Given the description of an element on the screen output the (x, y) to click on. 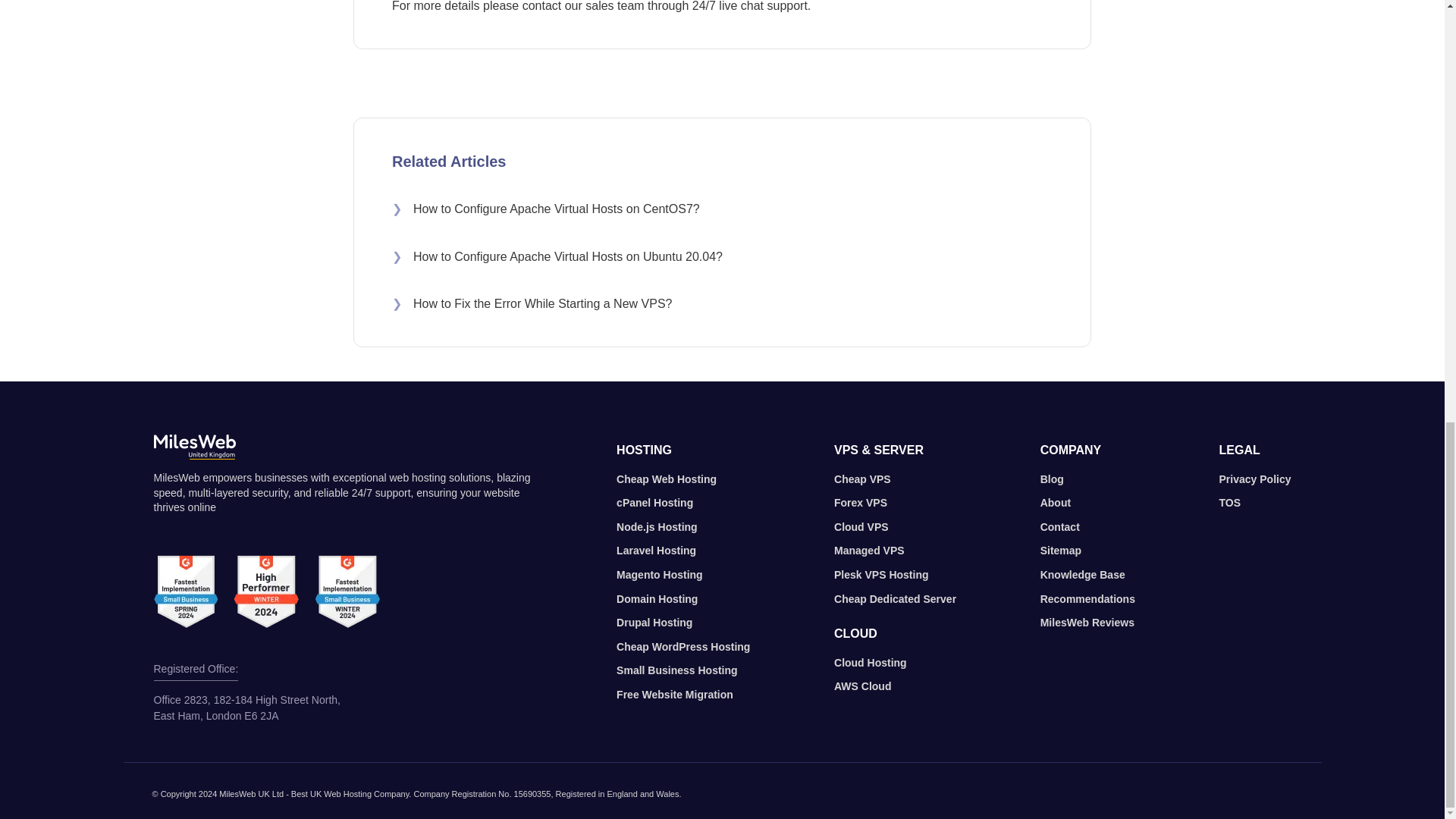
Domain Hosting (656, 599)
Magento Hosting (659, 575)
Laravel Hosting (655, 550)
Drupal Hosting (654, 622)
Cheap Web Hosting (665, 479)
cPanel Hosting (654, 503)
Cheap VPS (862, 479)
Node.js Hosting (656, 527)
Free Website Migration (674, 694)
Forex VPS (860, 503)
Cheap WordPress Hosting (682, 647)
Small Business Hosting (675, 670)
